Given the description of an element on the screen output the (x, y) to click on. 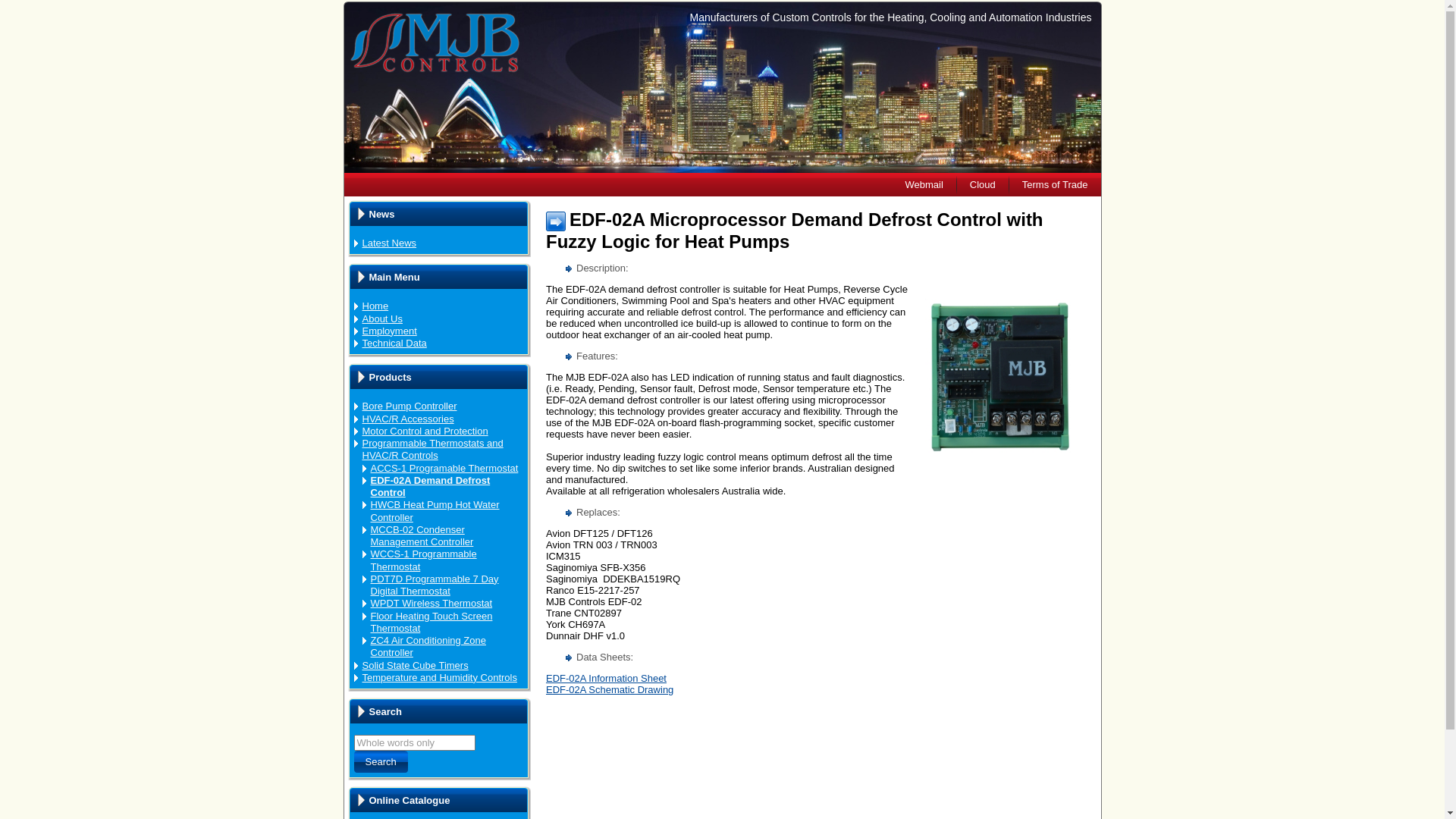
WPDT Wireless Thermostat Element type: text (431, 602)
Temperature and Humidity Controls Element type: text (439, 677)
Floor Heating Touch Screen Thermostat Element type: text (431, 621)
MCCB-02 Condenser Management Controller Element type: text (421, 535)
Technical Data Element type: text (394, 342)
HVAC/R Accessories Element type: text (408, 417)
WCCS-1 Programmable Thermostat Element type: text (423, 559)
Latest News Element type: text (389, 242)
About Us Element type: text (382, 317)
Motor Control and Protection Element type: text (425, 430)
Search Element type: text (380, 761)
ACCS-1 Programable Thermostat Element type: text (443, 467)
EDF-02A Demand Defrost Control Element type: text (429, 486)
Employment Element type: text (389, 330)
EDF-02A Schematic Drawing Element type: text (609, 689)
PDT7D Programmable 7 Day Digital Thermostat Element type: text (434, 584)
Webmail Element type: text (923, 184)
Home Element type: text (375, 305)
Bore Pump Controller Element type: text (409, 405)
ZC4 Air Conditioning Zone Controller Element type: text (427, 646)
Cloud Element type: text (982, 184)
HWCB Heat Pump Hot Water Controller Element type: text (434, 510)
Programmable Thermostats and HVAC/R Controls Element type: text (432, 449)
Solid State Cube Timers Element type: text (415, 665)
Terms of Trade Element type: text (1055, 184)
EDF-02A Information Sheet Element type: text (606, 678)
Enter the terms you wish to search for. Element type: hover (413, 742)
